Given the description of an element on the screen output the (x, y) to click on. 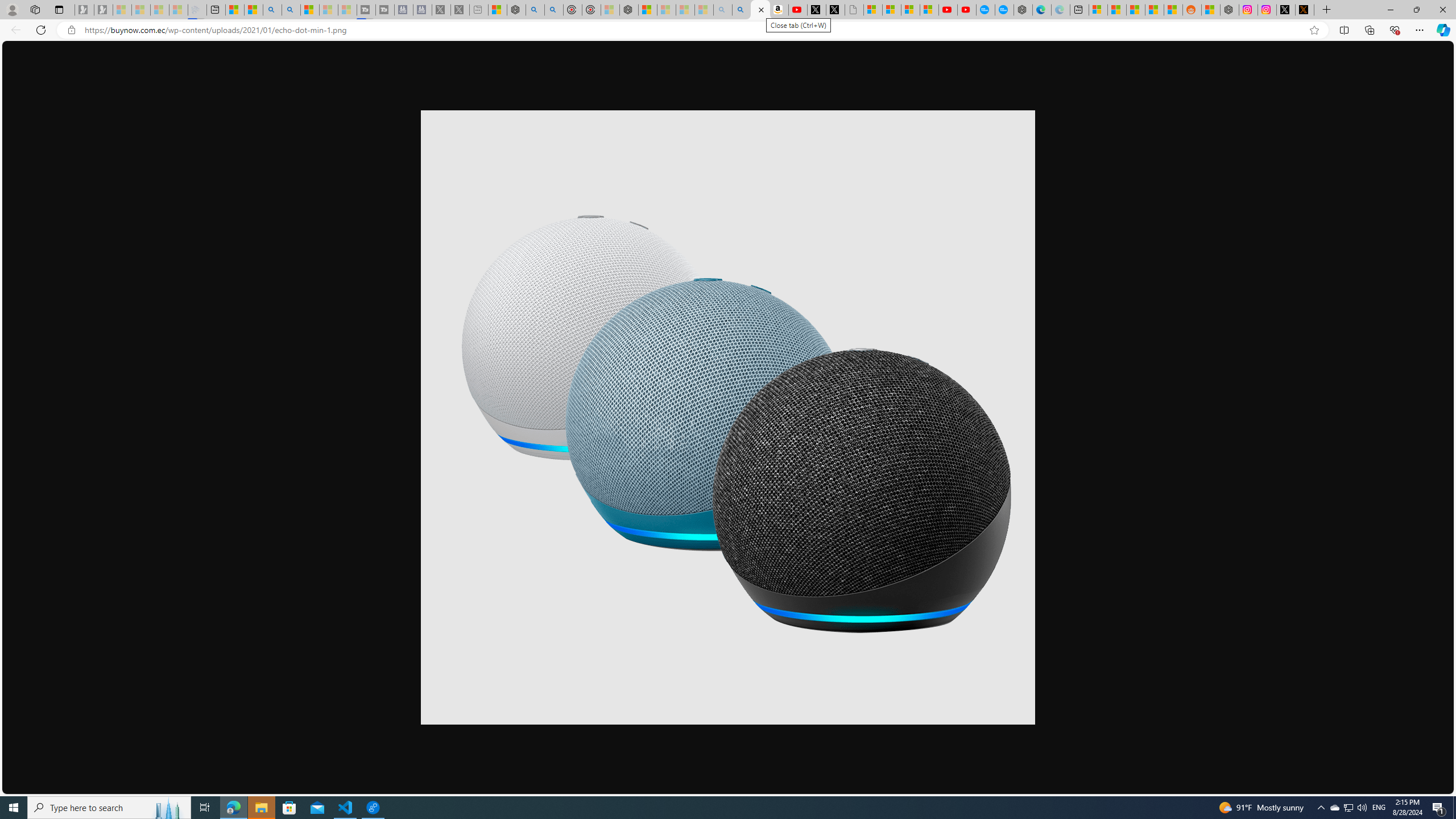
Nordace - Nordace has arrived Hong Kong (1022, 9)
Search (290, 9)
New tab - Sleeping (478, 9)
Shanghai, China Weather trends | Microsoft Weather (1173, 9)
Newsletter Sign Up - Sleeping (102, 9)
Microsoft Start - Sleeping (328, 9)
